Given the description of an element on the screen output the (x, y) to click on. 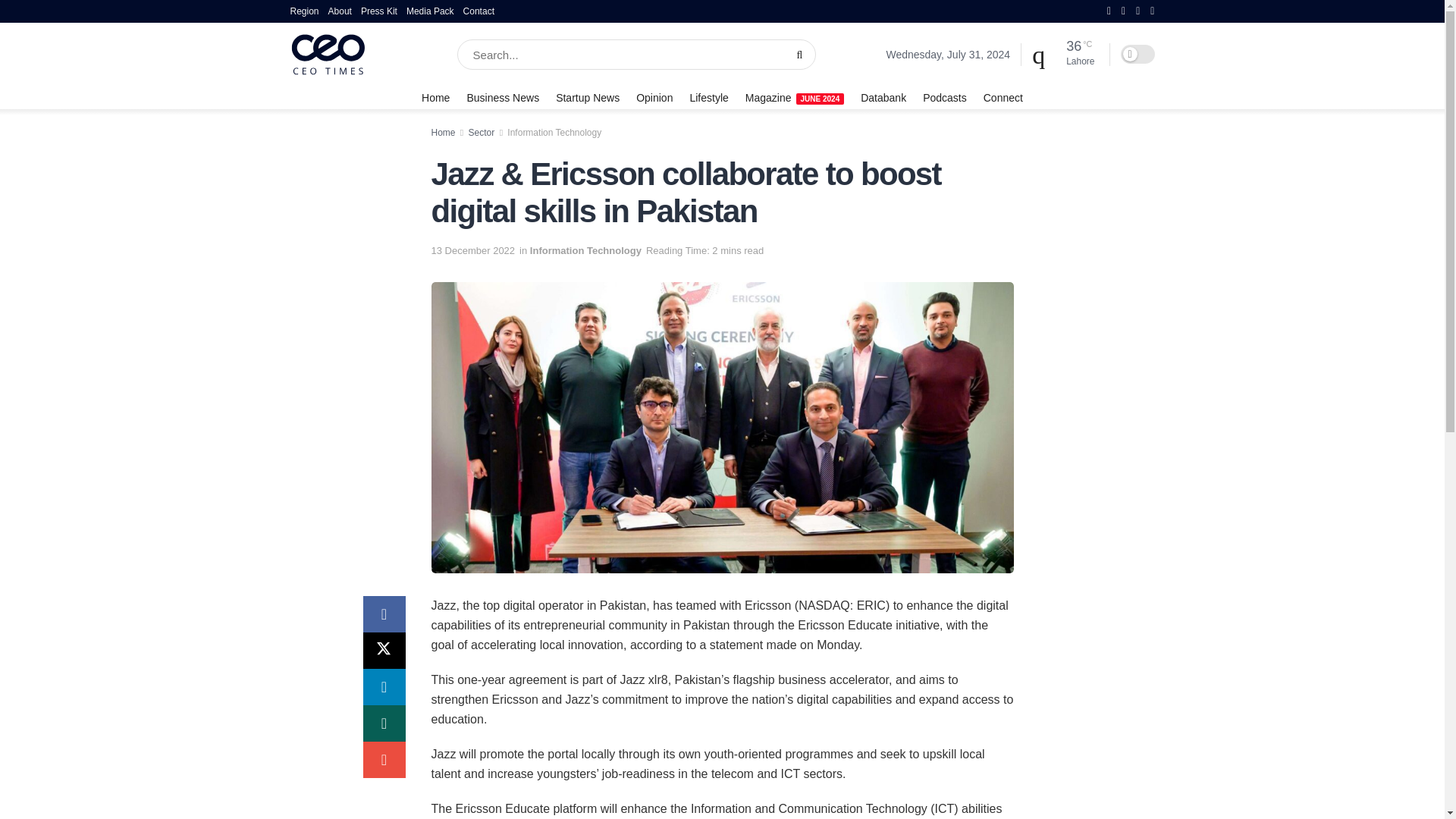
Press Kit (379, 11)
MagazineJUNE 2024 (794, 97)
Home (435, 97)
Region (303, 11)
Lifestyle (708, 97)
Startup News (588, 97)
Podcasts (944, 97)
Databank (882, 97)
Business News (501, 97)
Opinion (654, 97)
